Given the description of an element on the screen output the (x, y) to click on. 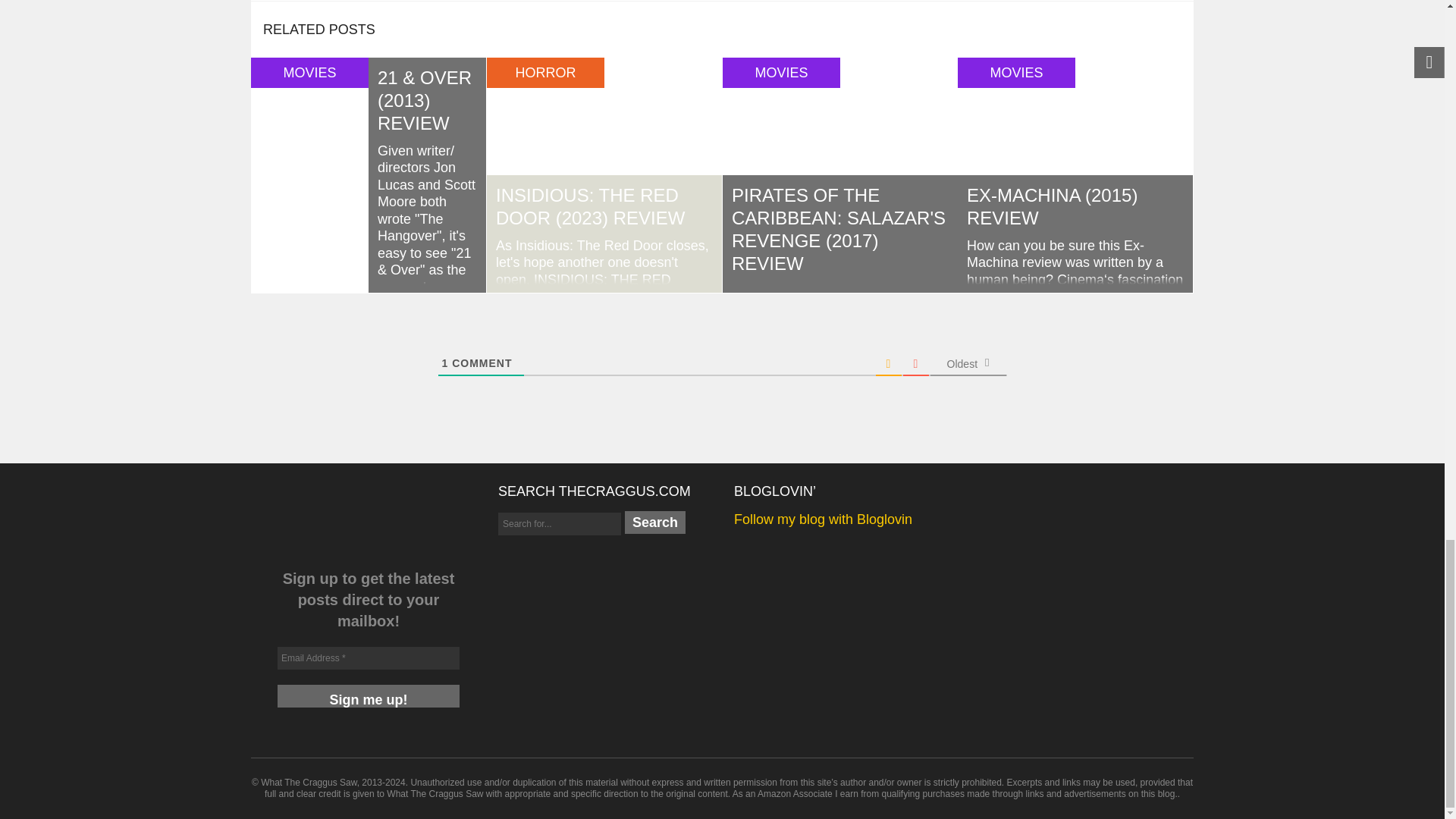
Search (654, 522)
Search for... (559, 523)
Sign me up! (369, 695)
Search (654, 522)
Follow my blog with Bloglovin (822, 519)
Email Address (369, 658)
Sign me up! (369, 695)
Search (654, 522)
